Given the description of an element on the screen output the (x, y) to click on. 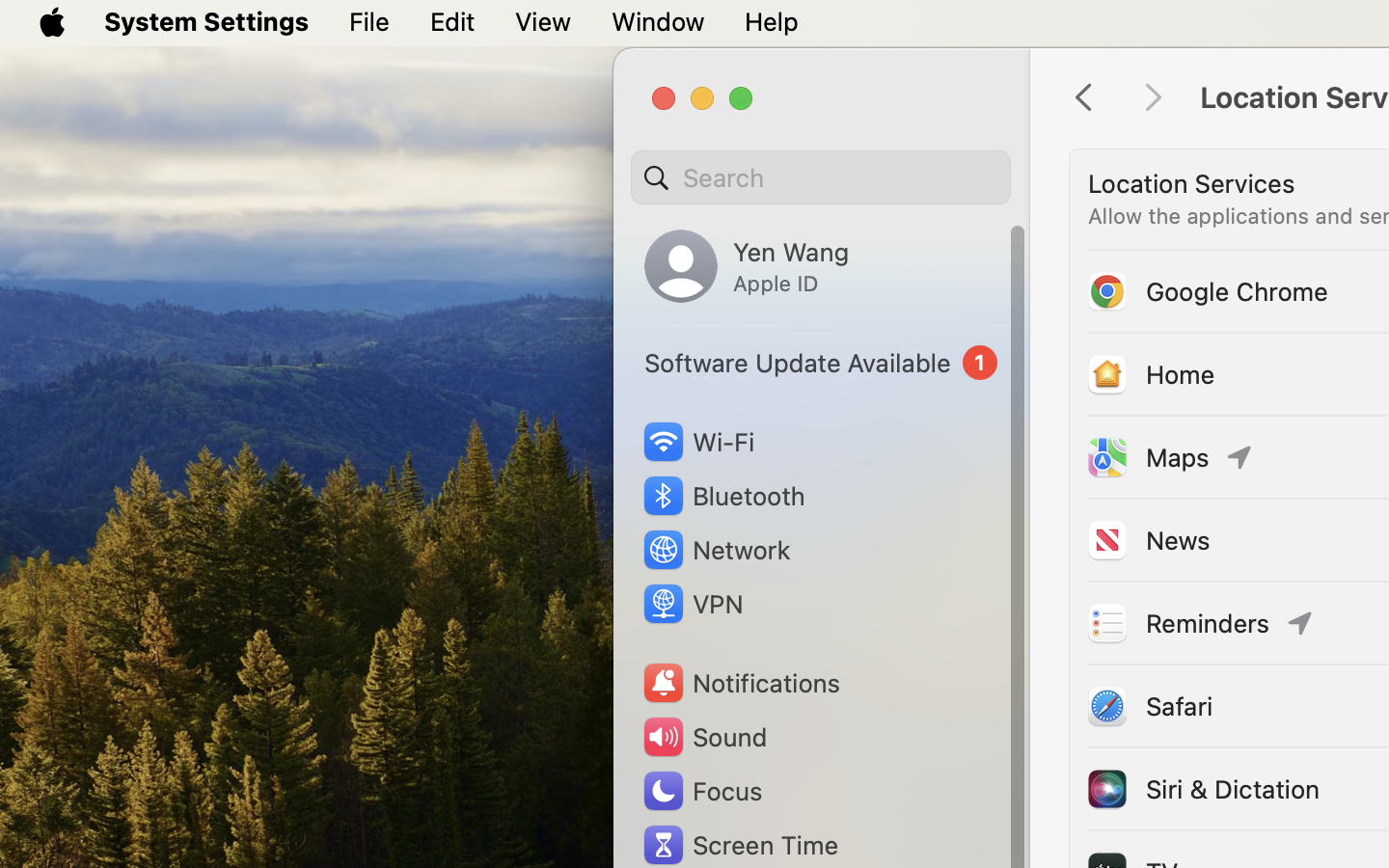
Network Element type: AXStaticText (715, 549)
News Element type: AXStaticText (1146, 539)
Notifications Element type: AXStaticText (740, 682)
Bluetooth Element type: AXStaticText (723, 495)
